Given the description of an element on the screen output the (x, y) to click on. 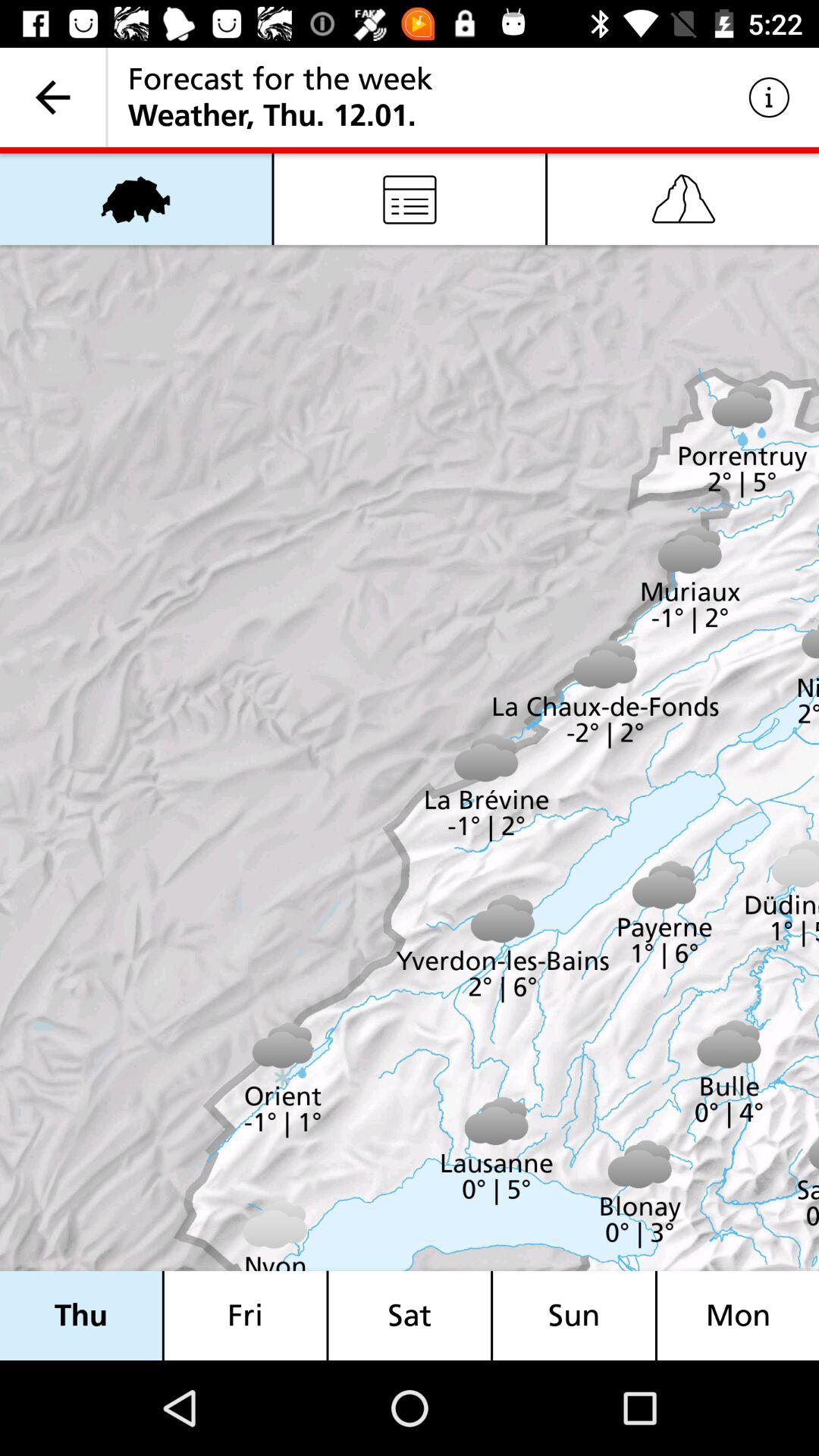
tap item to the right of the thu icon (245, 1315)
